Given the description of an element on the screen output the (x, y) to click on. 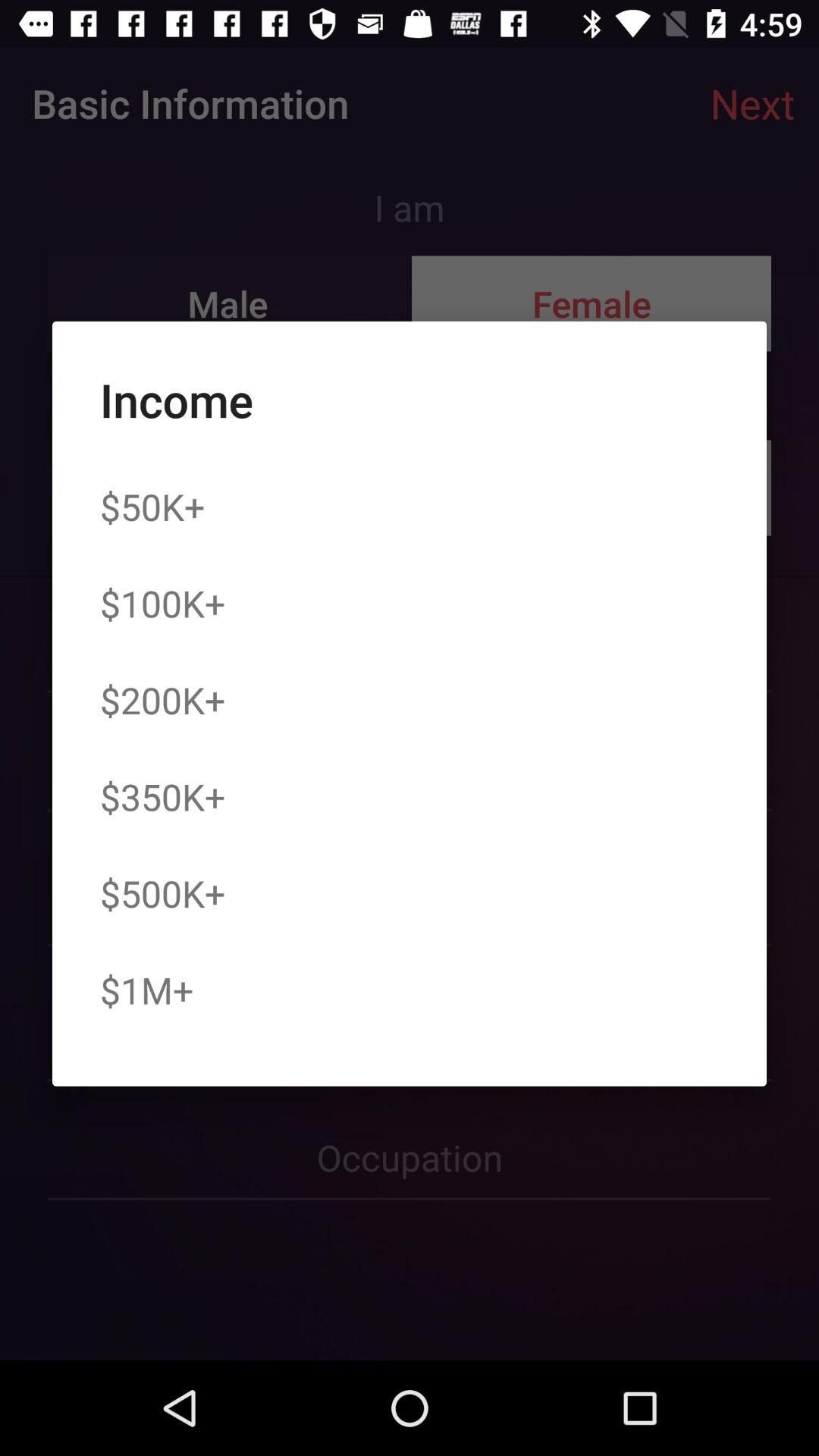
choose icon above the $500k+ (162, 796)
